Given the description of an element on the screen output the (x, y) to click on. 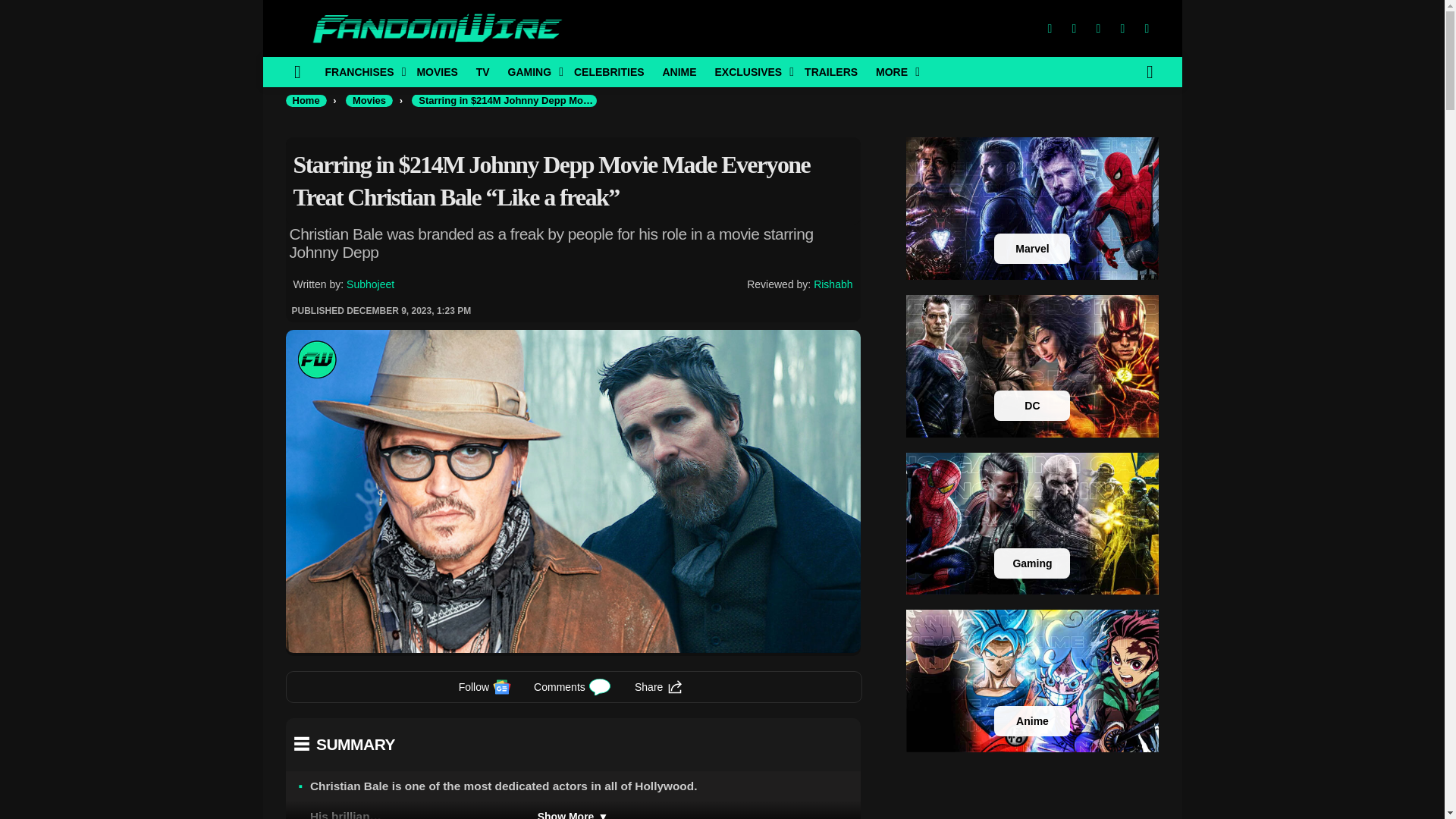
ANIME (678, 71)
TRAILERS (830, 71)
Twitter (1073, 28)
Menu (296, 71)
FRANCHISES (361, 71)
CELEBRITIES (609, 71)
LinkedIn (1121, 28)
MORE (893, 71)
MOVIES (436, 71)
GAMING (532, 71)
YT (1146, 28)
EXCLUSIVES (749, 71)
Facebook (1048, 28)
TV (482, 71)
Insta (1097, 28)
